Given the description of an element on the screen output the (x, y) to click on. 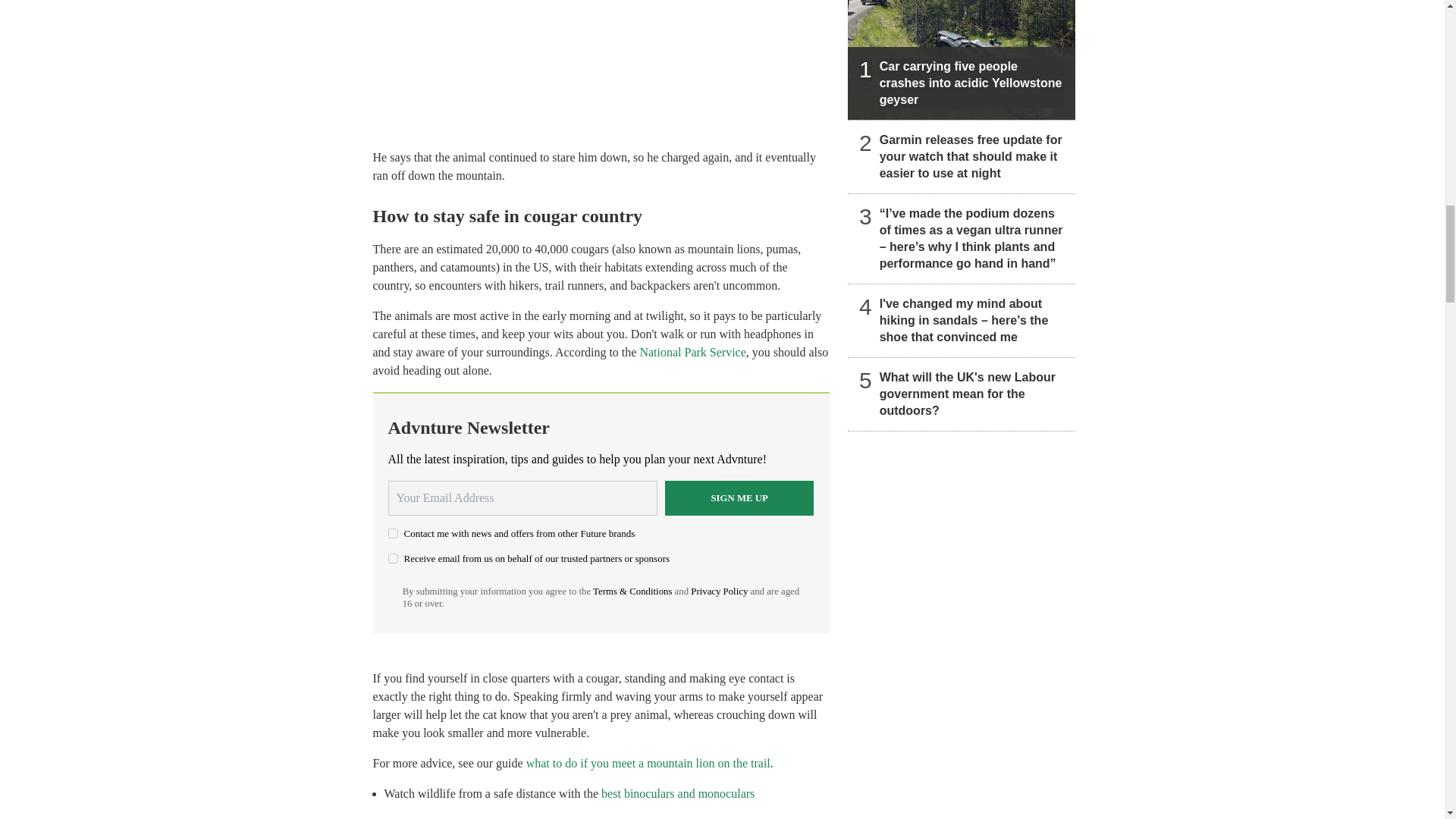
National Park Service (692, 351)
Sign me up (739, 497)
Privacy Policy (719, 591)
best binoculars and monoculars (677, 793)
what to do if you meet a mountain lion on the trail (647, 762)
Sign me up (739, 497)
on (392, 558)
on (392, 533)
